Given the description of an element on the screen output the (x, y) to click on. 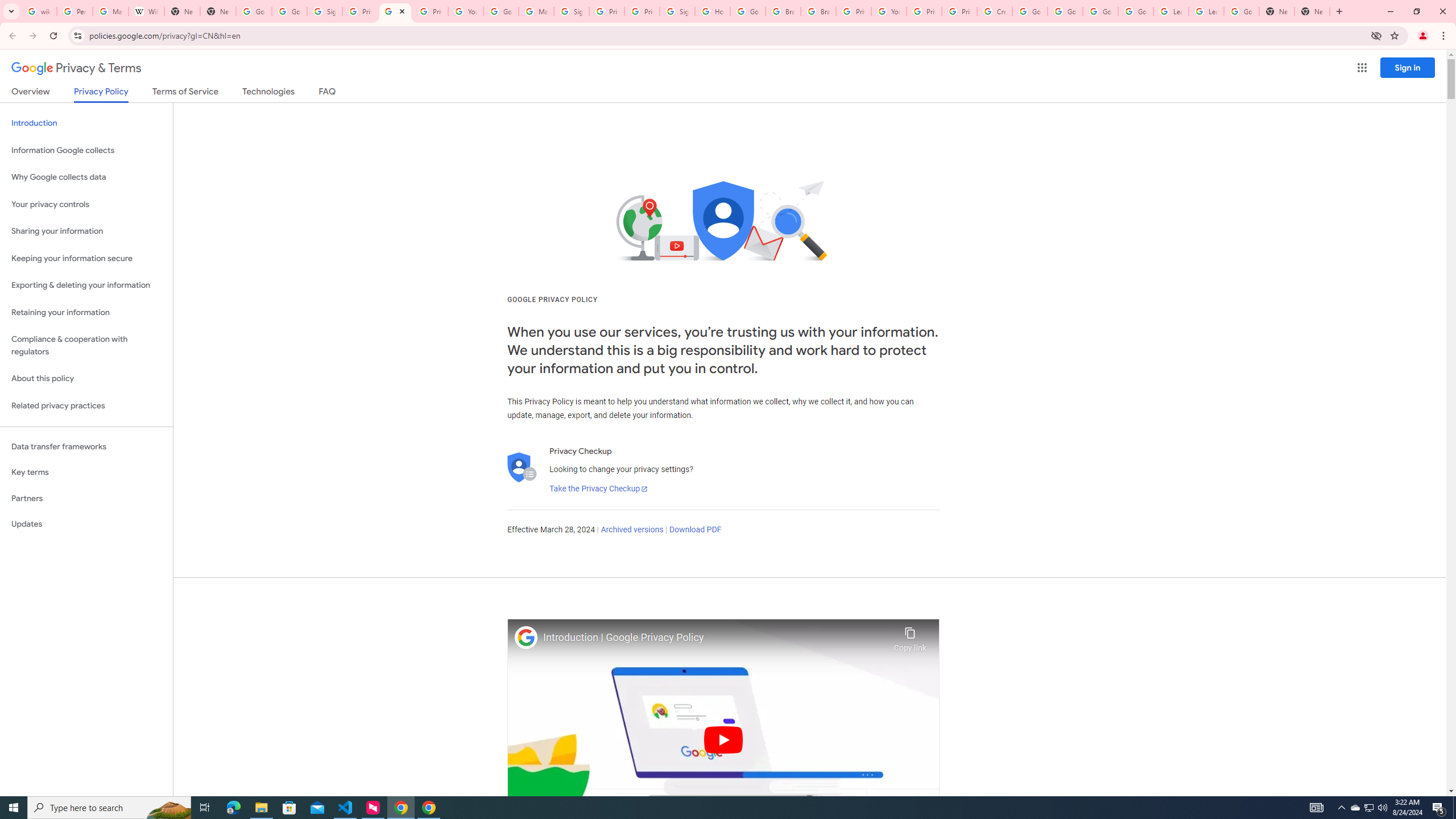
Google Account Help (1029, 11)
Google Account Help (1064, 11)
Personalization & Google Search results - Google Search Help (74, 11)
New Tab (218, 11)
Brand Resource Center (817, 11)
Wikipedia:Edit requests - Wikipedia (145, 11)
